Given the description of an element on the screen output the (x, y) to click on. 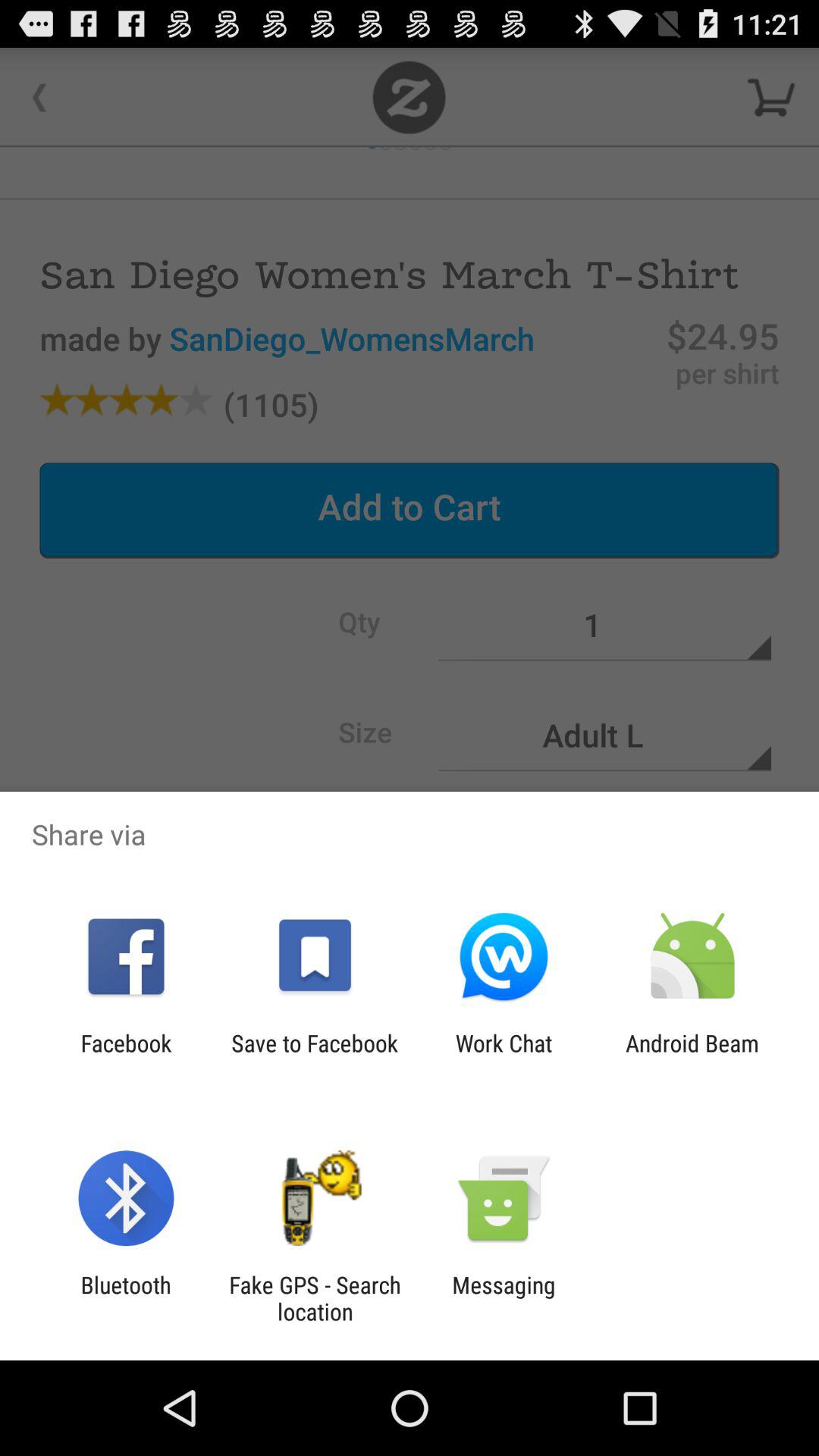
press the icon to the left of android beam (503, 1056)
